Given the description of an element on the screen output the (x, y) to click on. 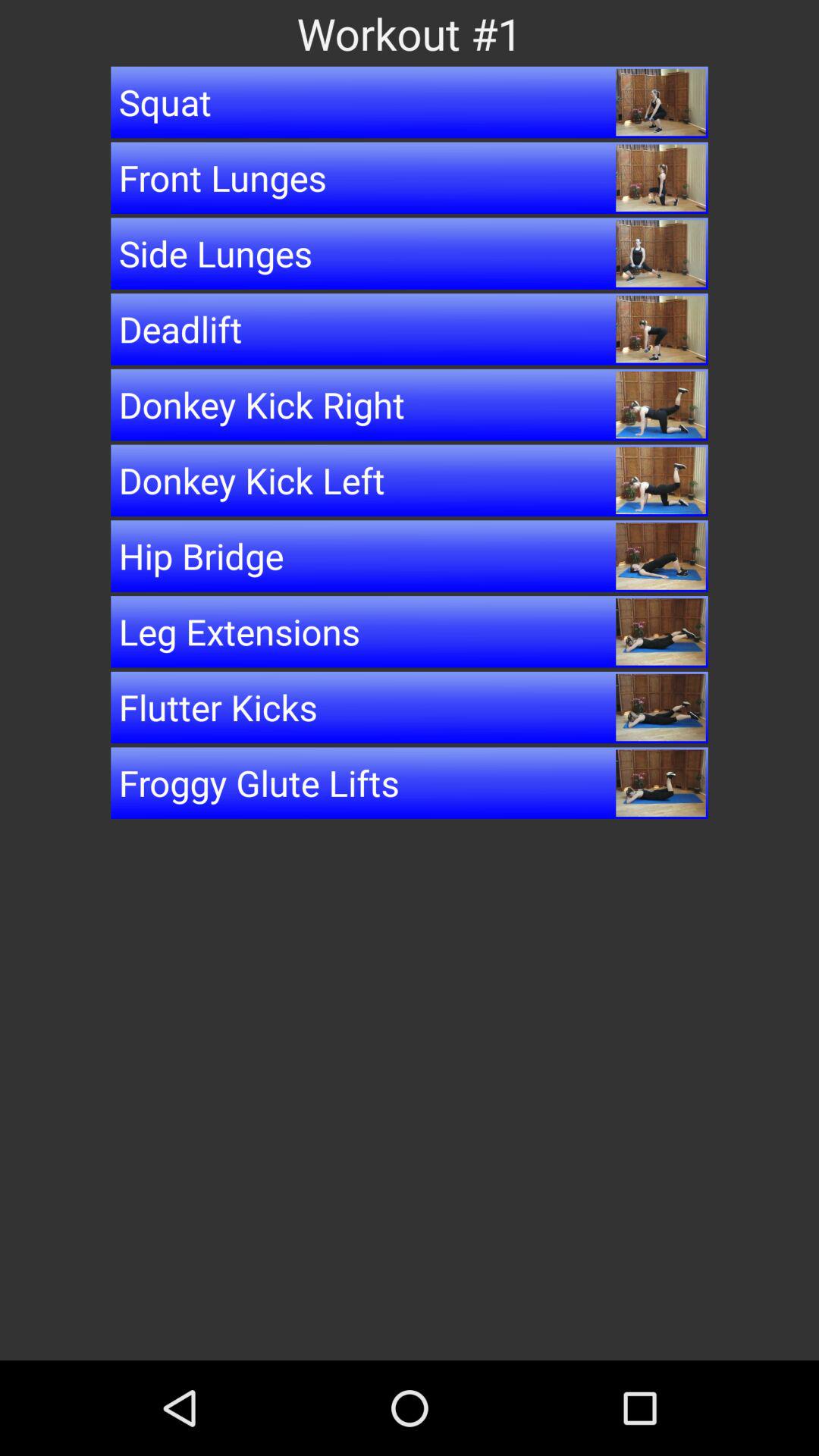
swipe until the front lunges button (409, 177)
